Given the description of an element on the screen output the (x, y) to click on. 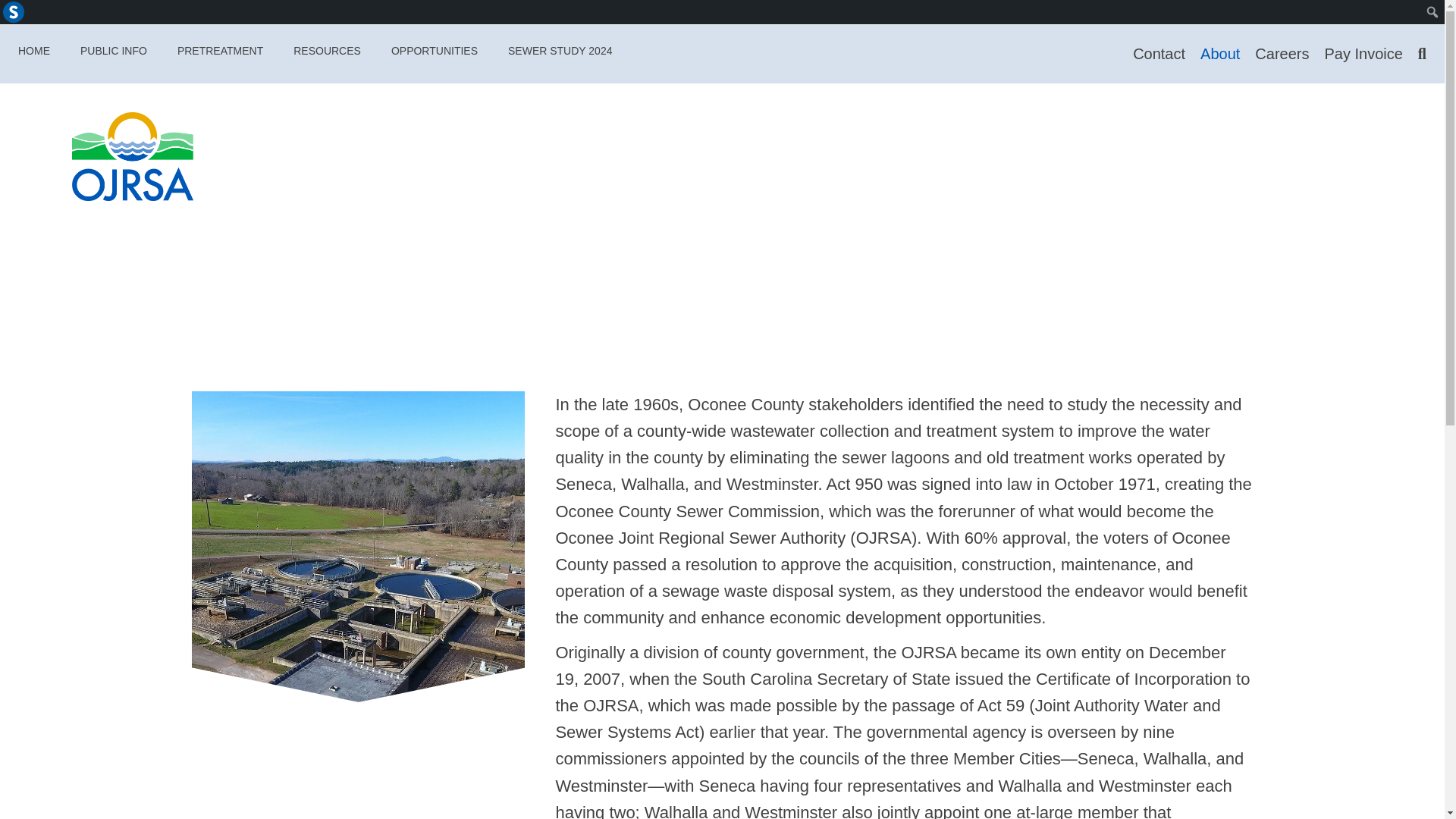
Pay Invoice (1362, 54)
PRETREATMENT (220, 51)
SEWER STUDY 2024 (560, 51)
Search (16, 12)
HOME (34, 51)
OPPORTUNITIES (434, 51)
RESOURCES (326, 51)
About (1219, 54)
PUBLIC INFO (113, 51)
Careers (1281, 54)
